Given the description of an element on the screen output the (x, y) to click on. 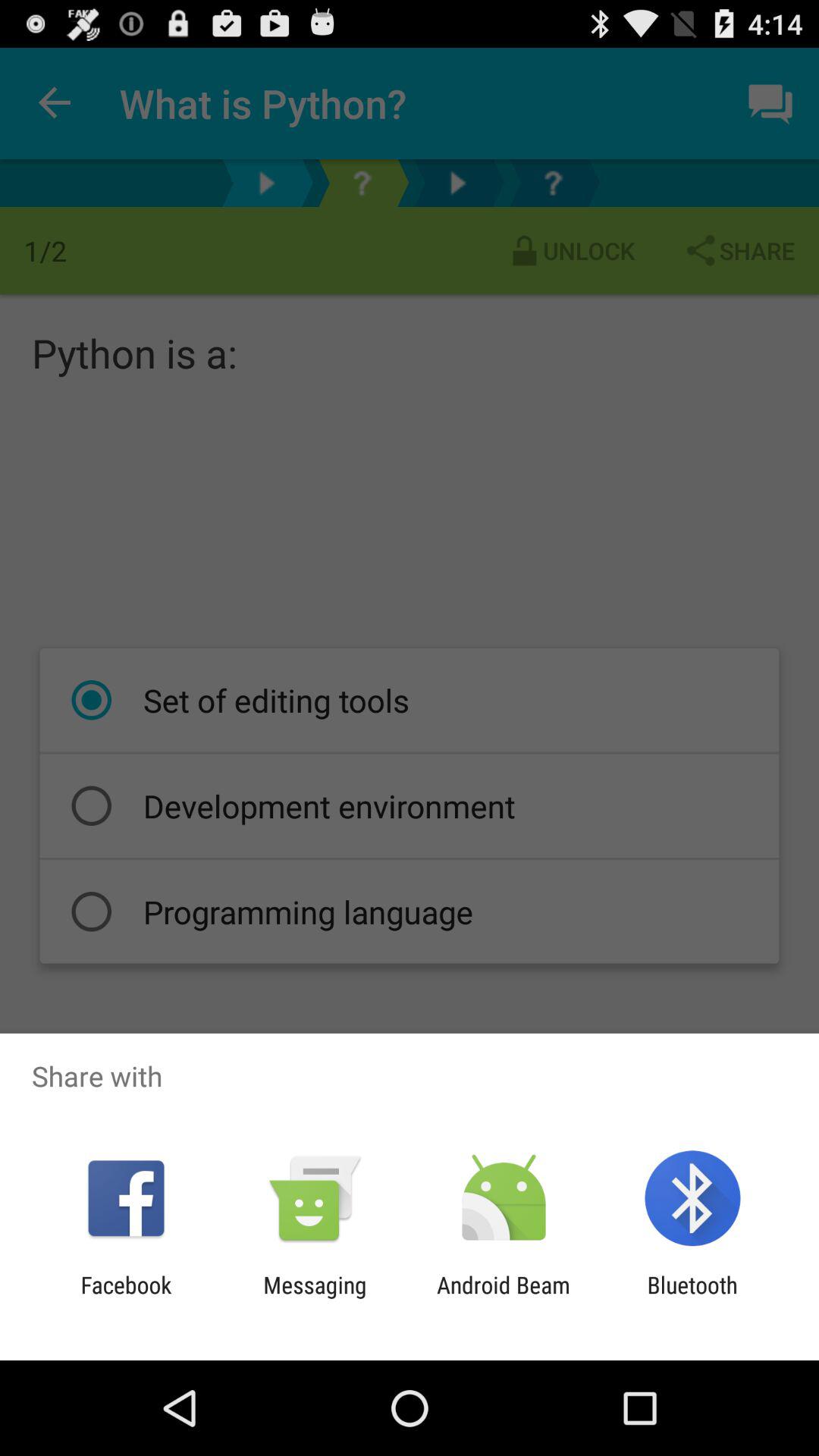
jump to the android beam (503, 1298)
